Given the description of an element on the screen output the (x, y) to click on. 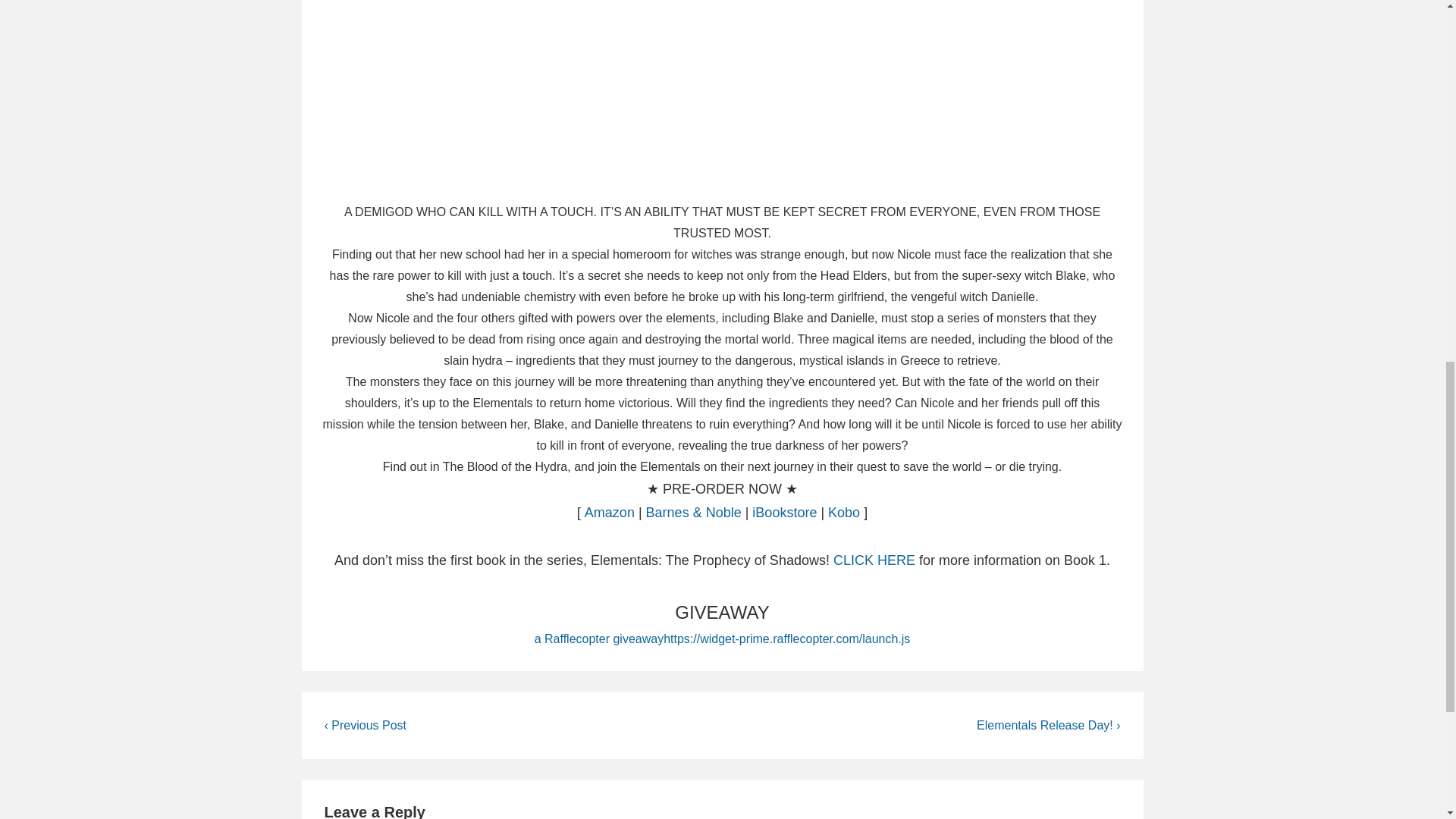
CLICK HERE (873, 560)
Amazon (609, 512)
Kobo (844, 512)
a Rafflecopter giveaway (598, 638)
iBookstore (784, 512)
